Given the description of an element on the screen output the (x, y) to click on. 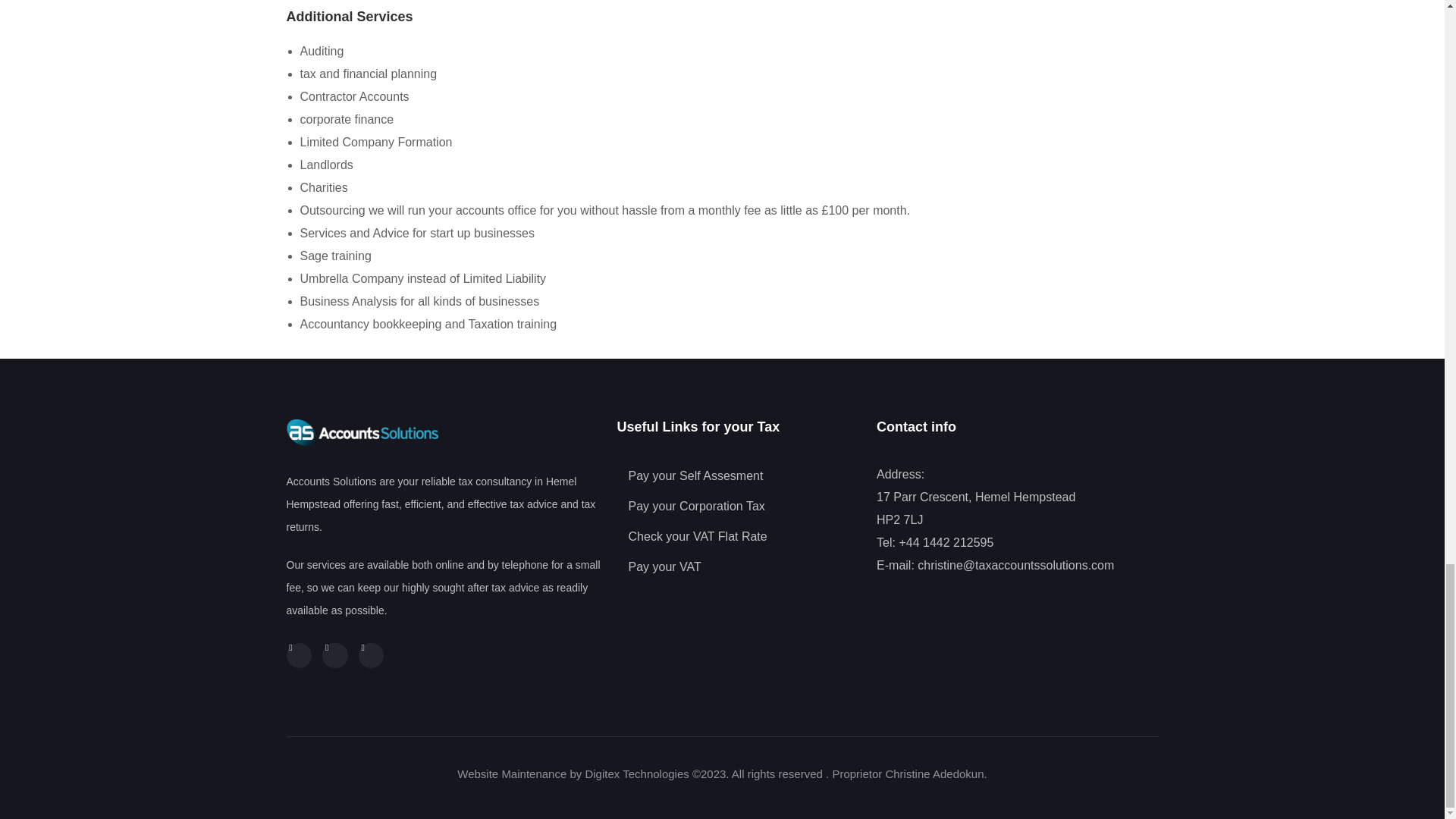
Pay your Corporation Tax (739, 506)
Pay your VAT (739, 567)
Pay your Self Assesment (739, 476)
Check your VAT Flat Rate (739, 536)
